Given the description of an element on the screen output the (x, y) to click on. 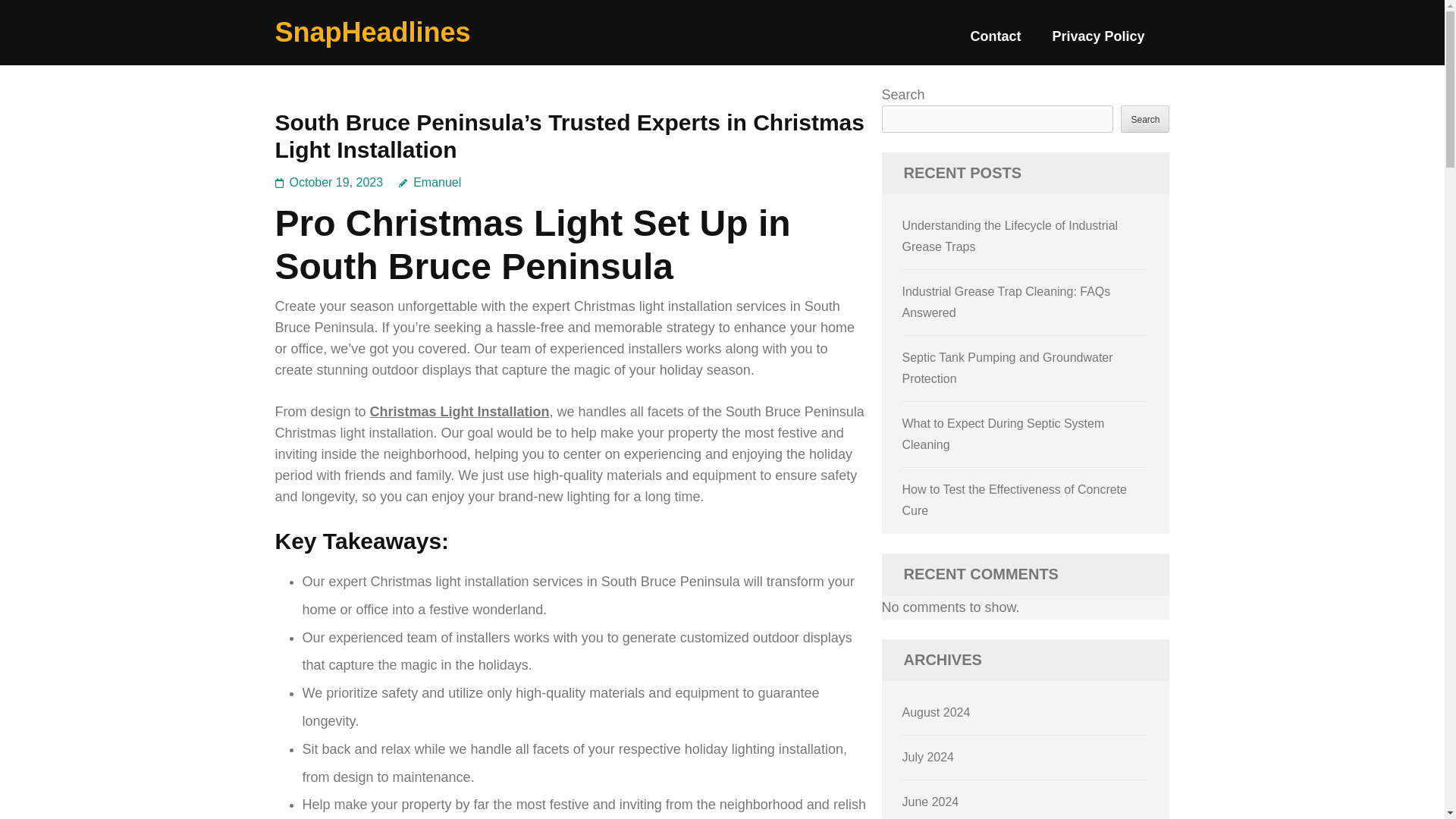
July 2024 (928, 757)
Septic Tank Pumping and Groundwater Protection (1007, 367)
Contact (994, 42)
Emanuel (429, 182)
October 19, 2023 (336, 182)
SnapHeadlines (372, 31)
Privacy Policy (1097, 42)
Search (1145, 118)
How to Test the Effectiveness of Concrete Cure (1014, 499)
August 2024 (936, 712)
What to Expect During Septic System Cleaning (1003, 433)
Christmas Light Installation (459, 411)
Industrial Grease Trap Cleaning: FAQs Answered (1006, 302)
June 2024 (930, 801)
Understanding the Lifecycle of Industrial Grease Traps (1010, 236)
